Given the description of an element on the screen output the (x, y) to click on. 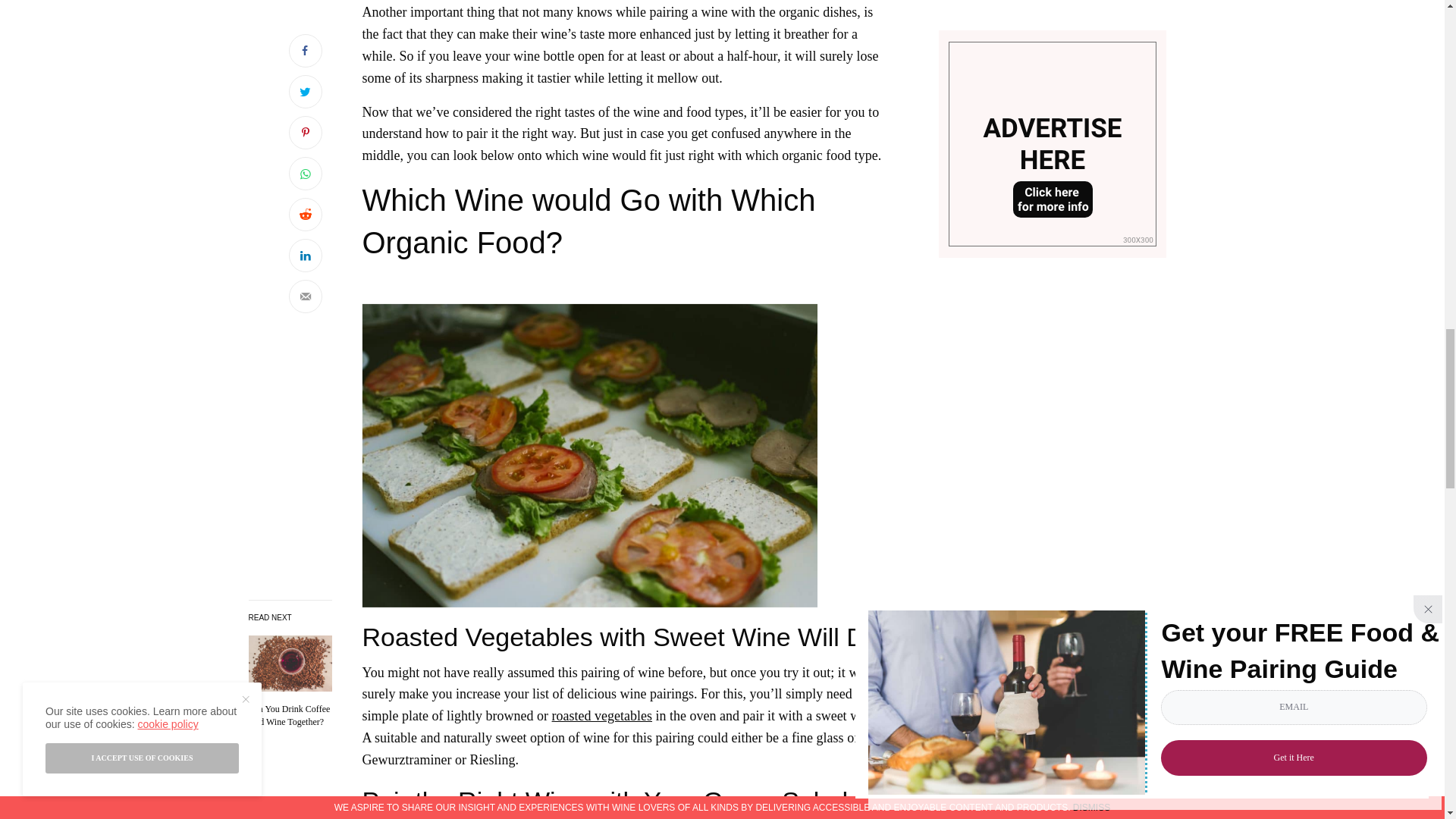
A Guide to Wine Pairing with Organic Food (289, 715)
